Given the description of an element on the screen output the (x, y) to click on. 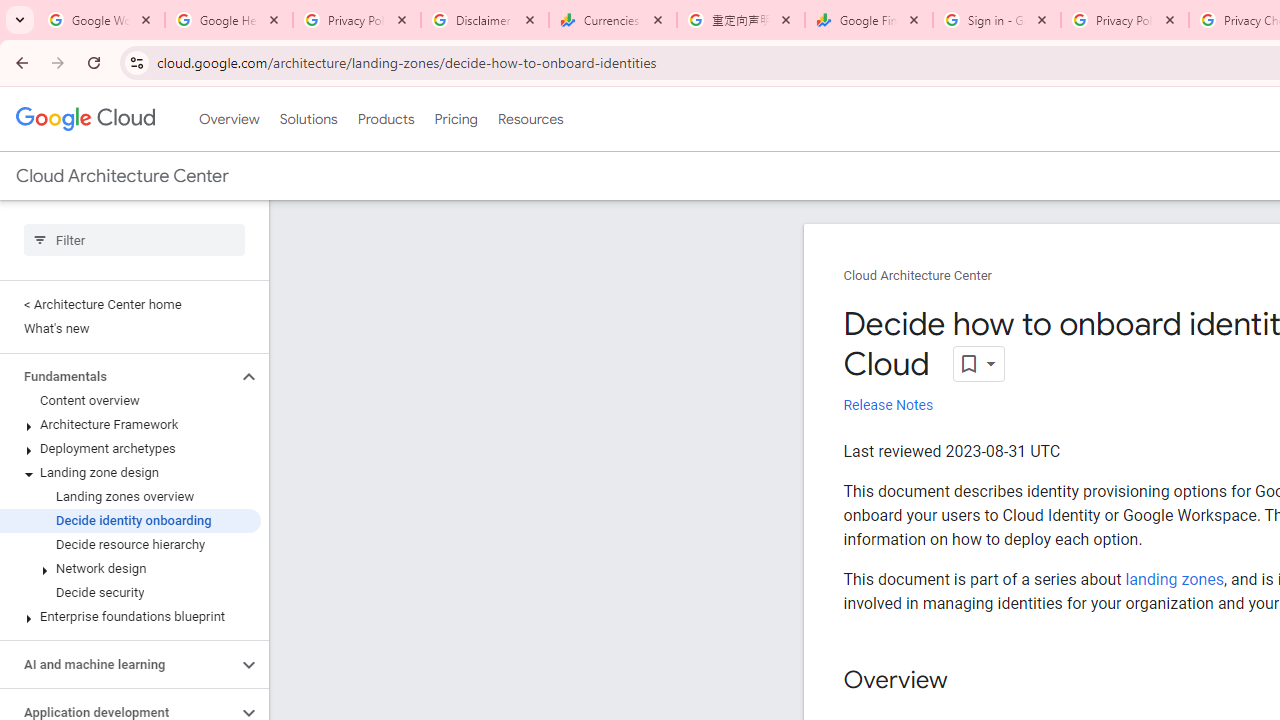
Landing zones overview (130, 497)
Content overview (130, 400)
Type to filter (134, 239)
Solutions (308, 119)
Decide resource hierarchy (130, 544)
Pricing (455, 119)
landing zones (1174, 579)
Copy link to this section: Overview (967, 681)
Deployment archetypes (130, 448)
AI and machine learning (118, 664)
What's new (130, 328)
